Given the description of an element on the screen output the (x, y) to click on. 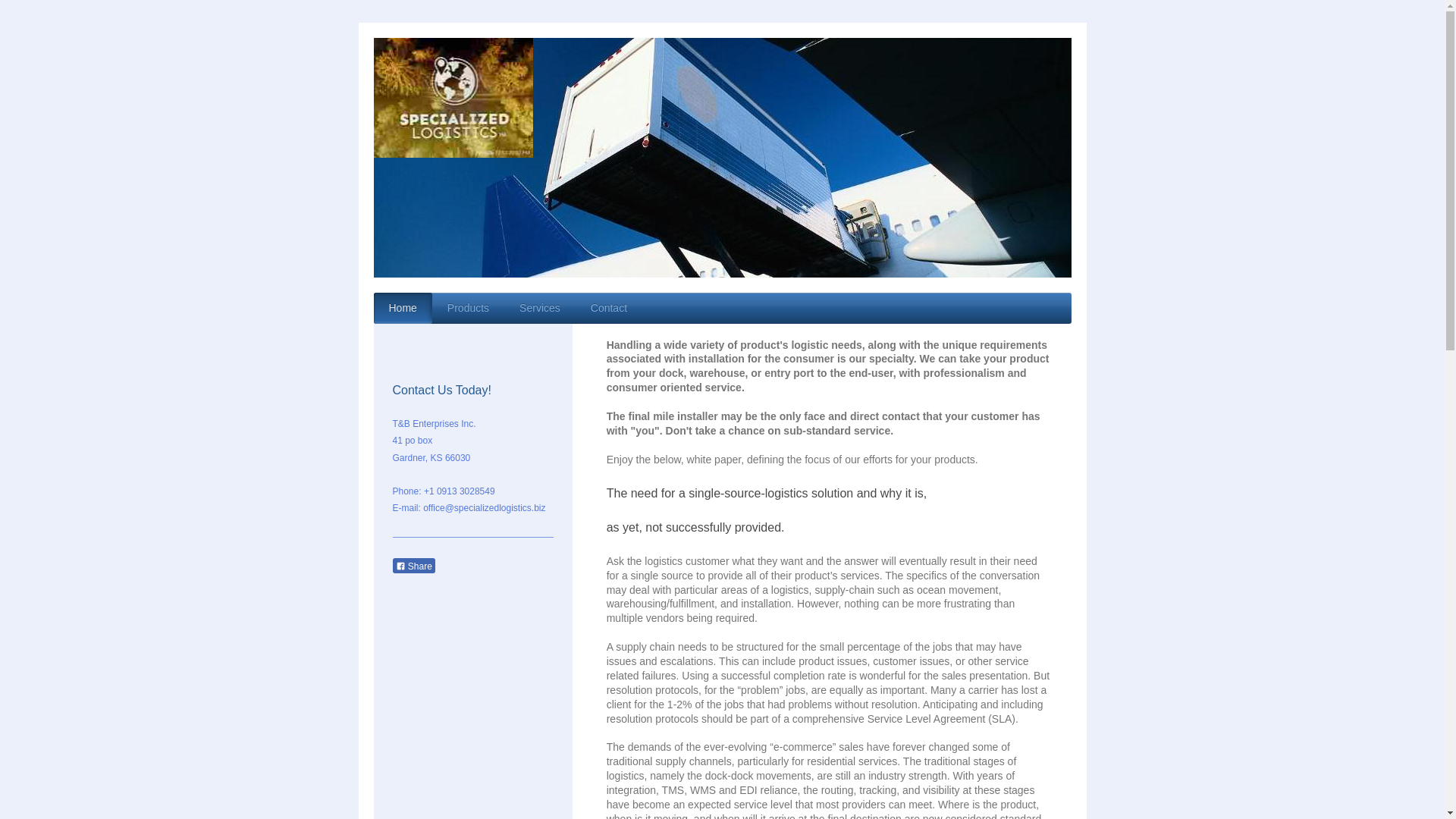
Share (414, 565)
Contact (608, 307)
Home (401, 307)
Products (467, 307)
Services (539, 307)
